Given the description of an element on the screen output the (x, y) to click on. 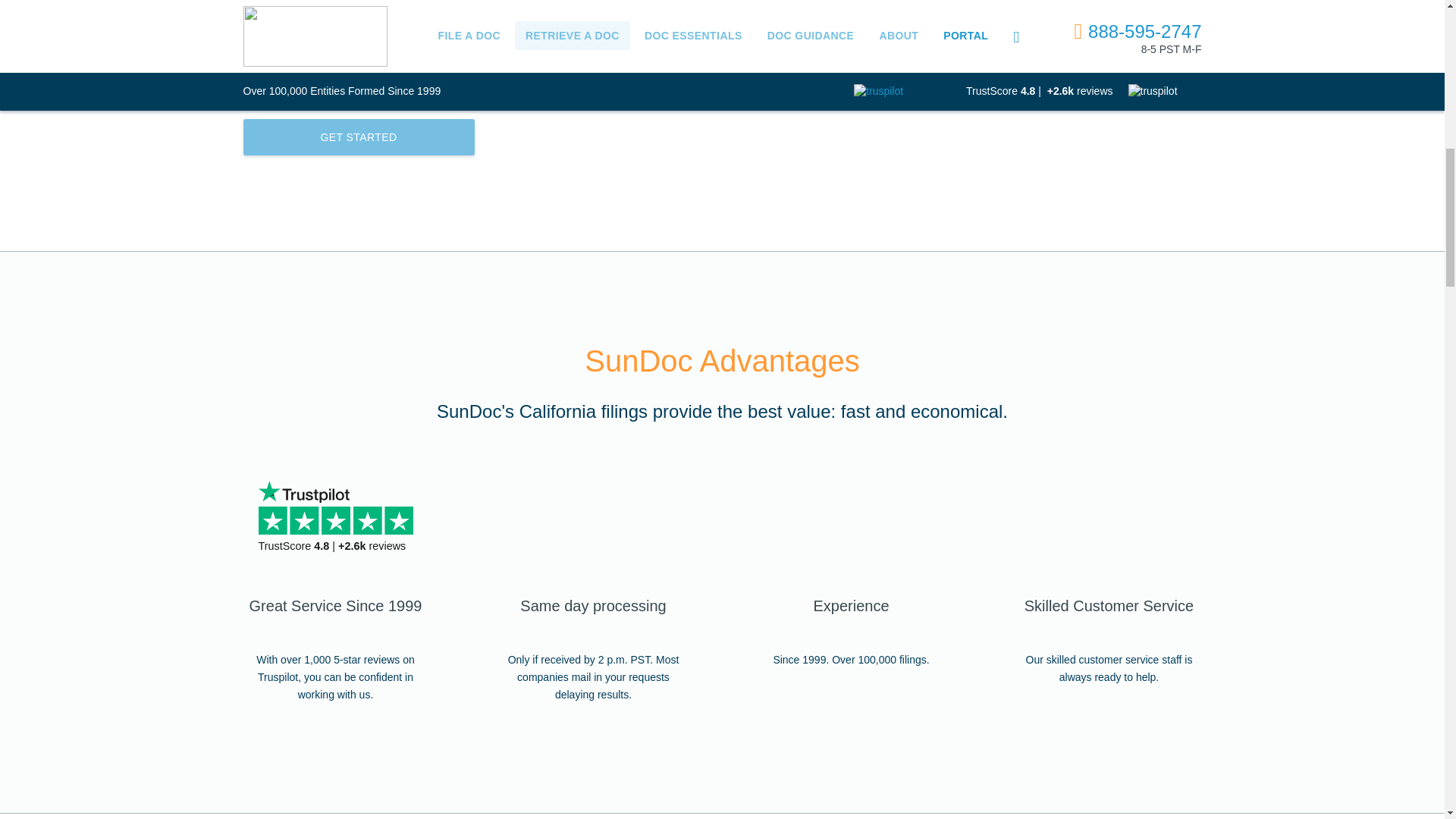
Trustpilot (303, 491)
